Given the description of an element on the screen output the (x, y) to click on. 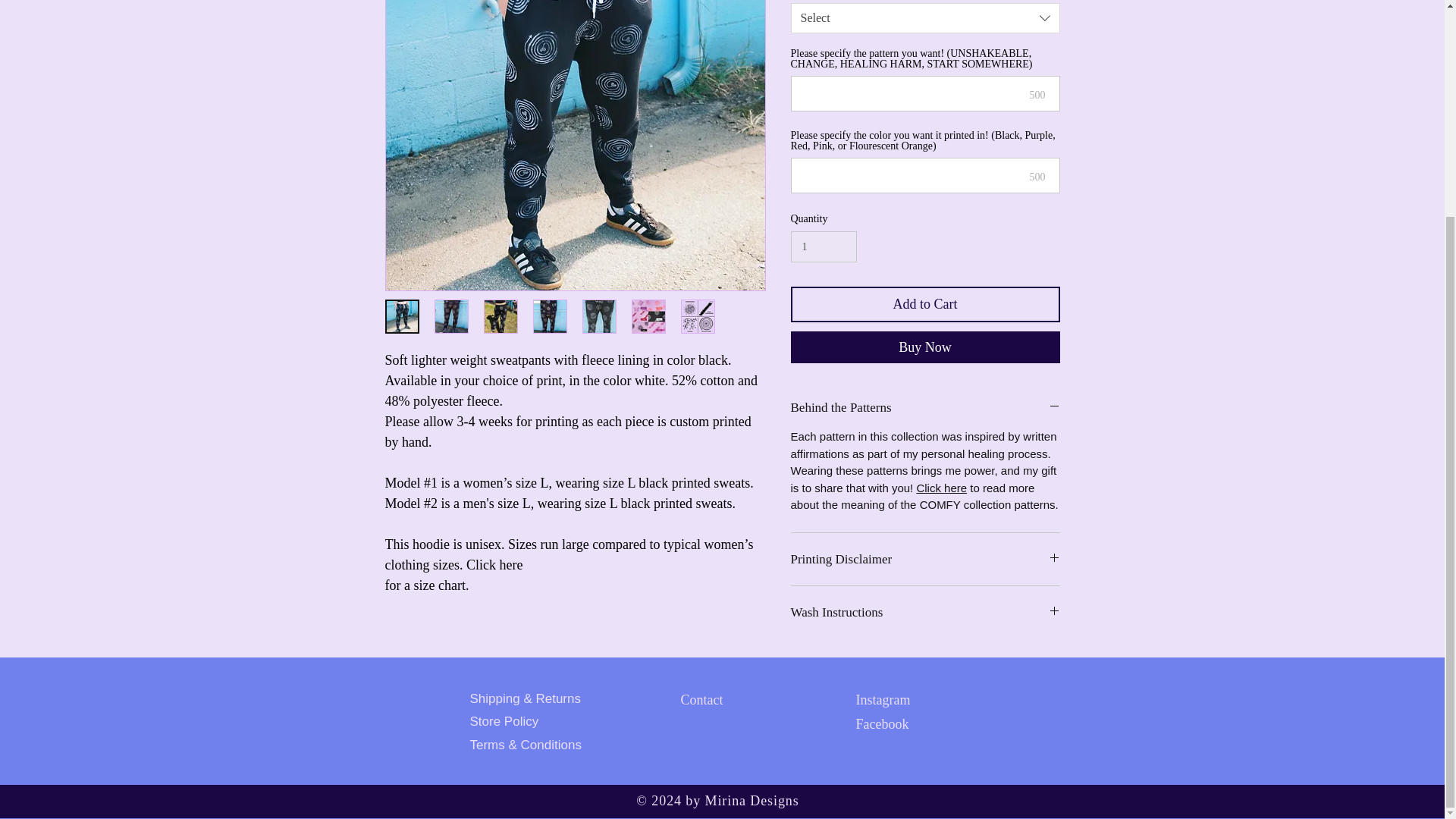
Add to Cart (924, 304)
Printing Disclaimer (924, 559)
Select (924, 18)
Behind the Patterns (924, 407)
1 (823, 246)
Facebook (882, 724)
Instagram (883, 699)
Contact (702, 699)
Click here (940, 487)
Store Policy (504, 721)
Wash Instructions (924, 611)
Buy Now (924, 347)
